Given the description of an element on the screen output the (x, y) to click on. 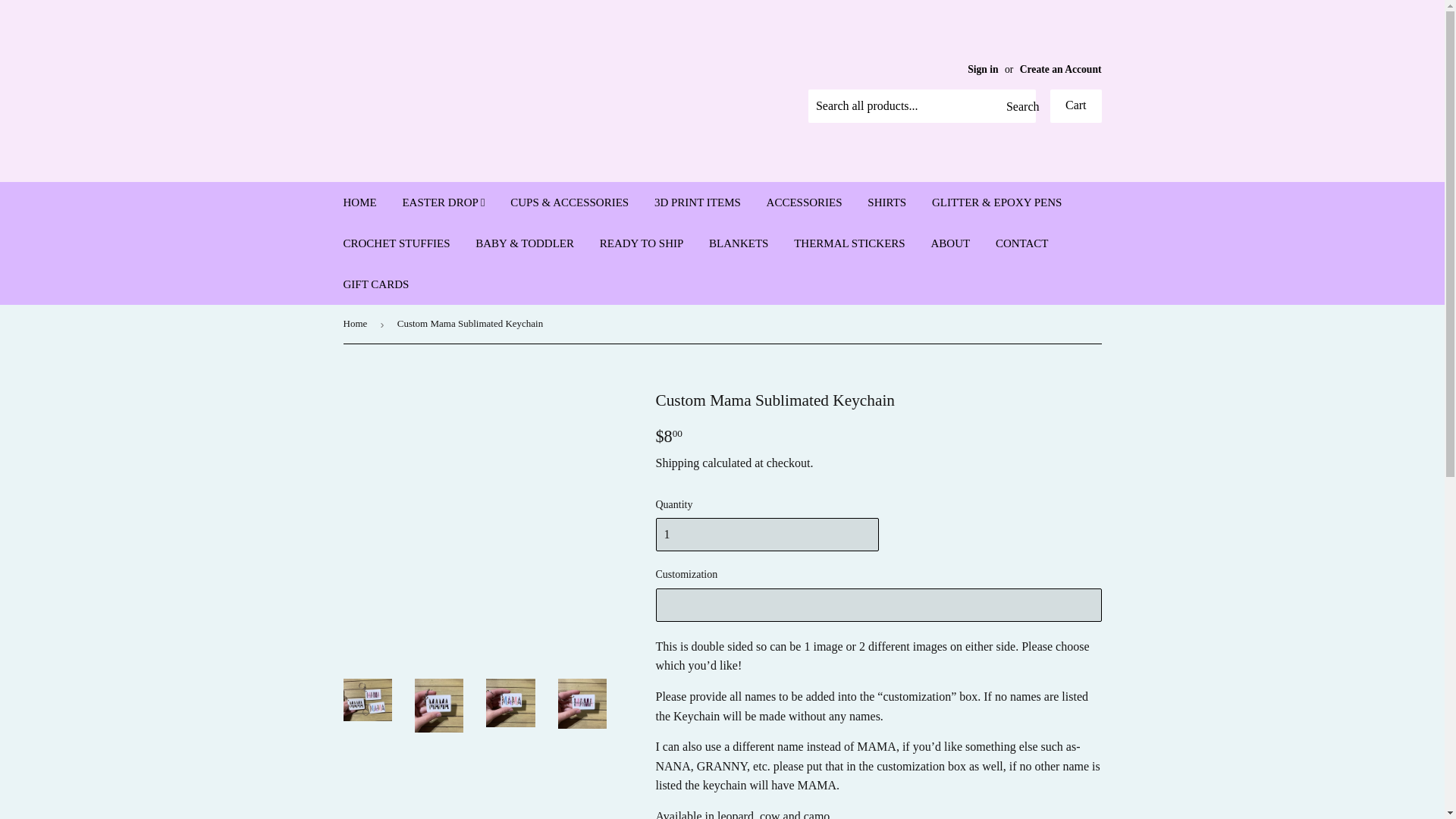
Search (1018, 106)
Cart (1075, 105)
1 (766, 534)
Sign in (982, 69)
Create an Account (1061, 69)
